Given the description of an element on the screen output the (x, y) to click on. 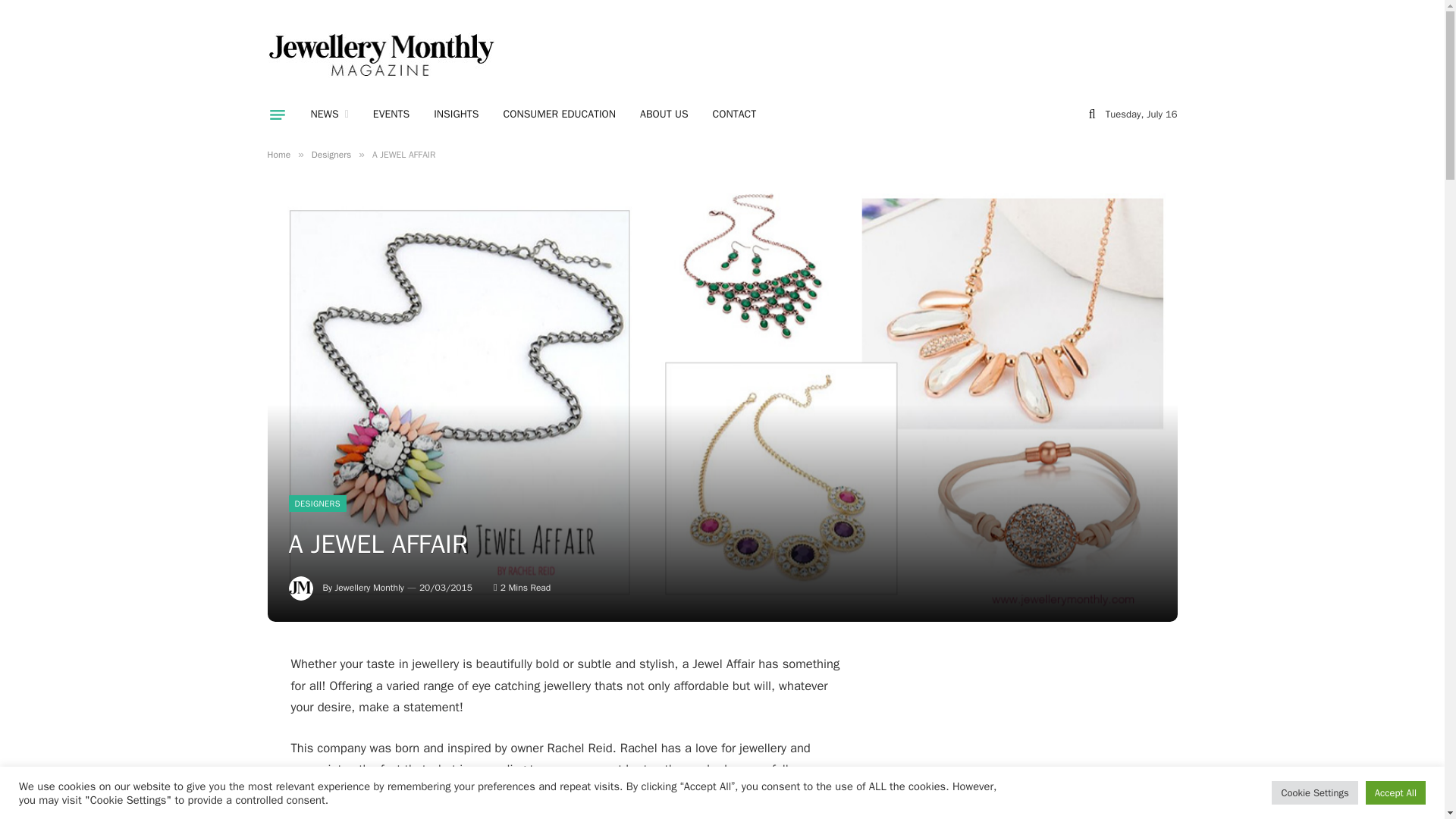
EVENTS (391, 114)
DESIGNERS (317, 503)
NEWS (329, 114)
Posts by Jewellery Monthly (369, 587)
Home (277, 154)
CONTACT (734, 114)
CONSUMER EDUCATION (560, 114)
INSIGHTS (456, 114)
Jewellery Monthly (369, 587)
Retail Jewellery News and Industry events (329, 114)
Designers (331, 154)
Jewellery Monthly (380, 54)
ABOUT US (663, 114)
